Given the description of an element on the screen output the (x, y) to click on. 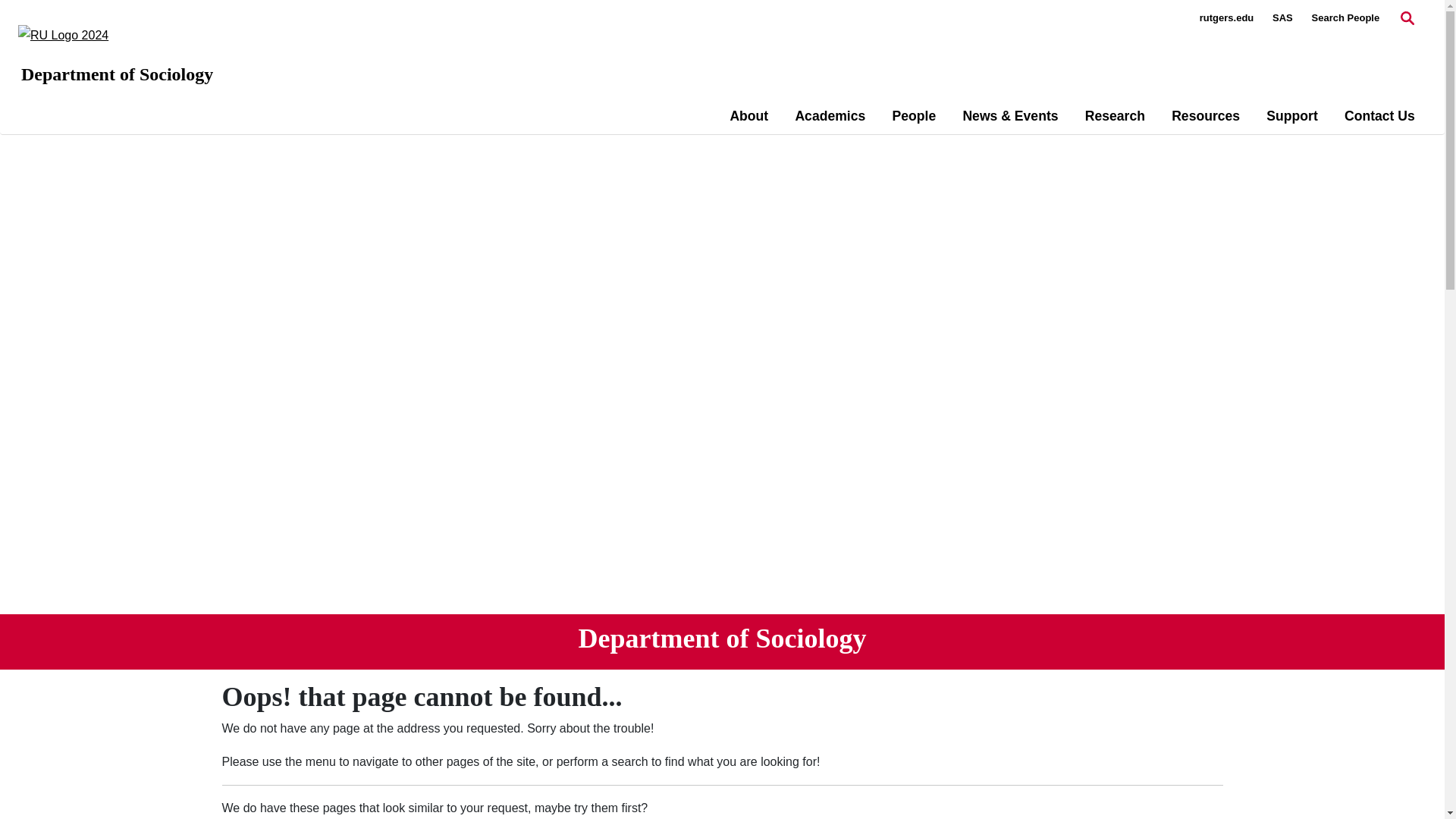
Search People (1345, 17)
Department of Sociology (116, 74)
Research (1114, 116)
People (914, 116)
Academics (829, 116)
rutgers.edu (1226, 17)
Resources (1206, 116)
About (748, 116)
